Given the description of an element on the screen output the (x, y) to click on. 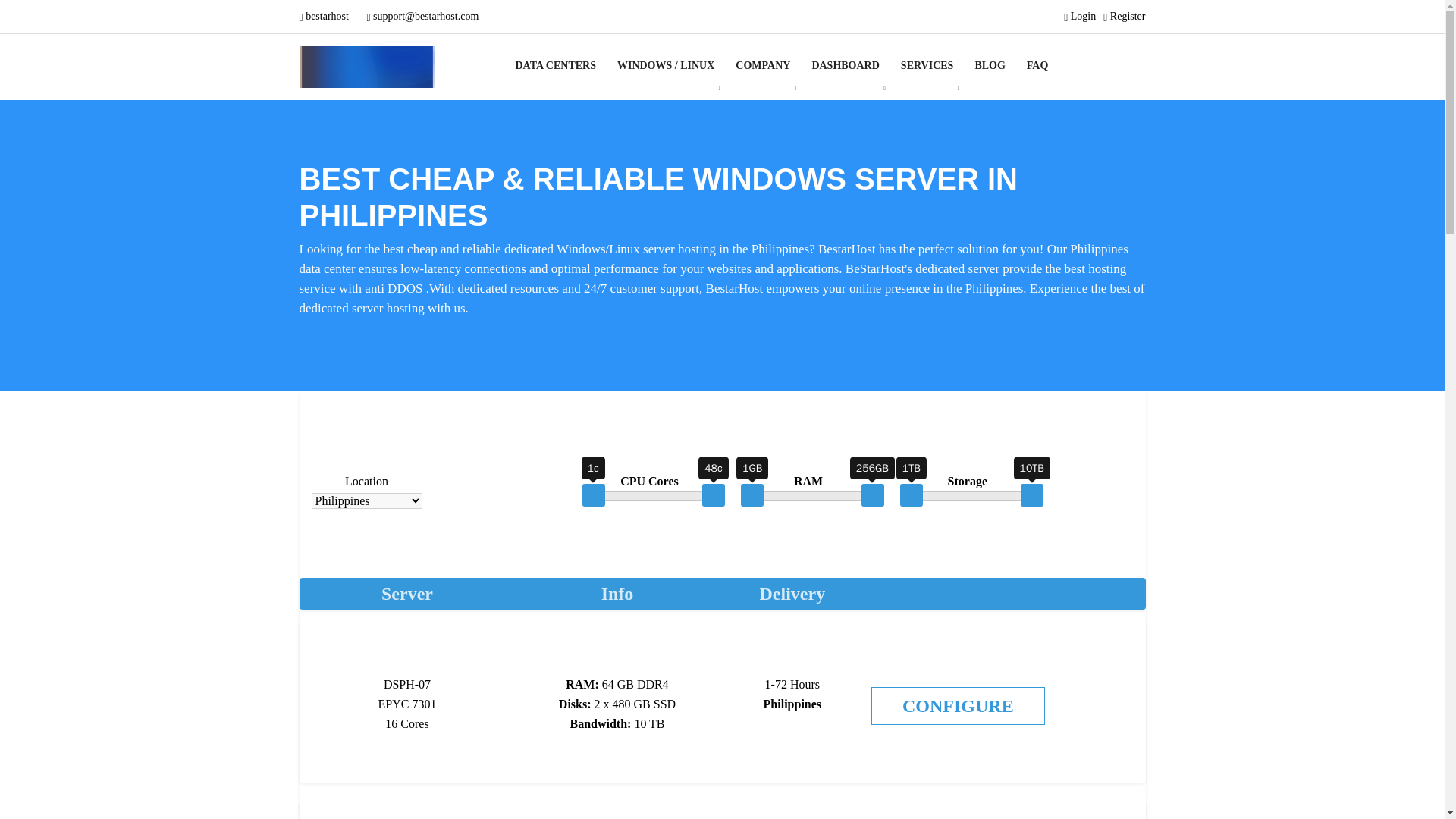
CONFIGURE (957, 705)
Register (1123, 16)
bestarhost (324, 16)
COMPANY (762, 65)
FAQ (1037, 65)
DASHBOARD (844, 65)
Login (1080, 16)
DATA CENTERS (561, 65)
SERVICES (926, 65)
BLOG (988, 65)
